Given the description of an element on the screen output the (x, y) to click on. 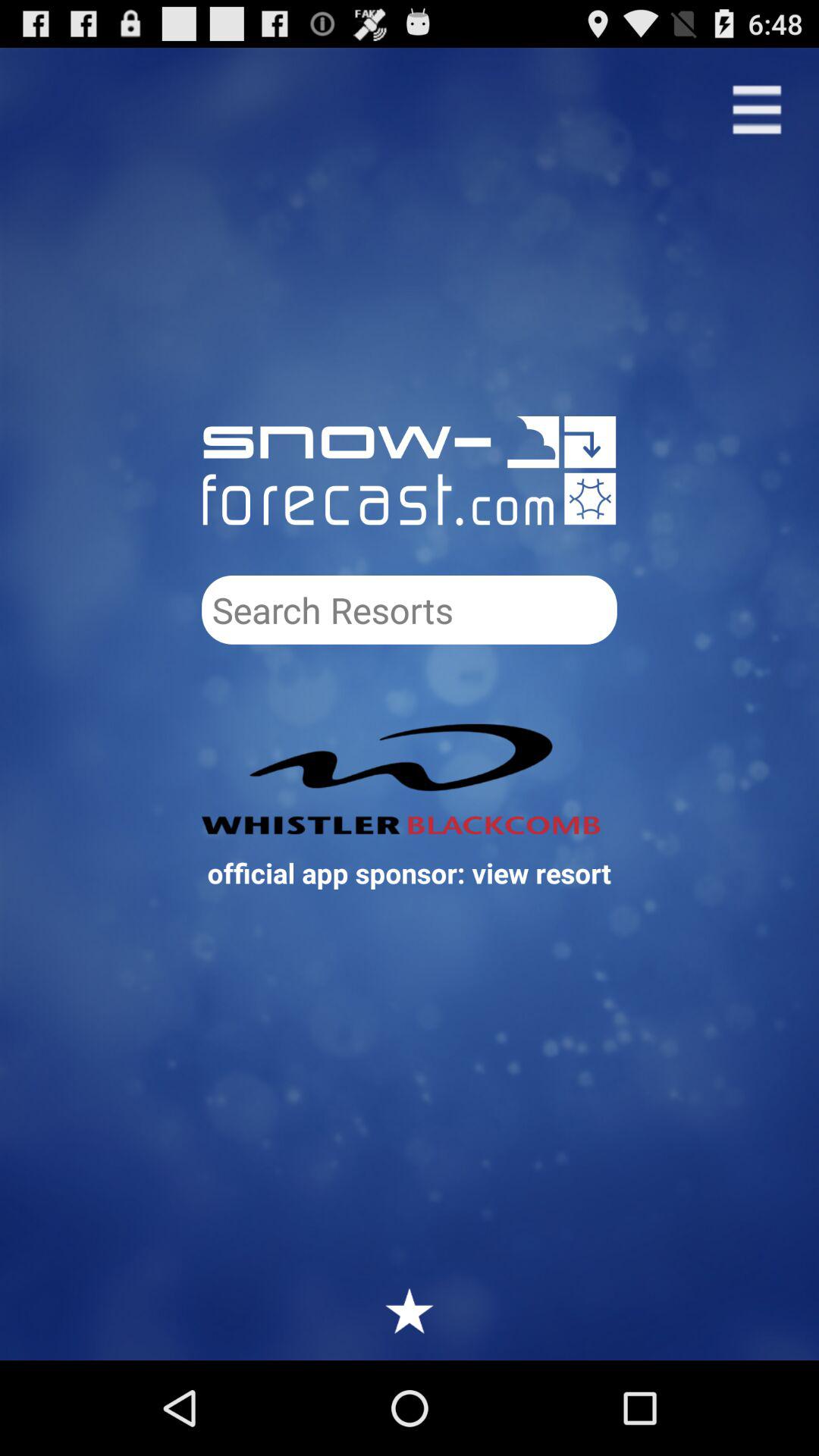
see menu (757, 109)
